Given the description of an element on the screen output the (x, y) to click on. 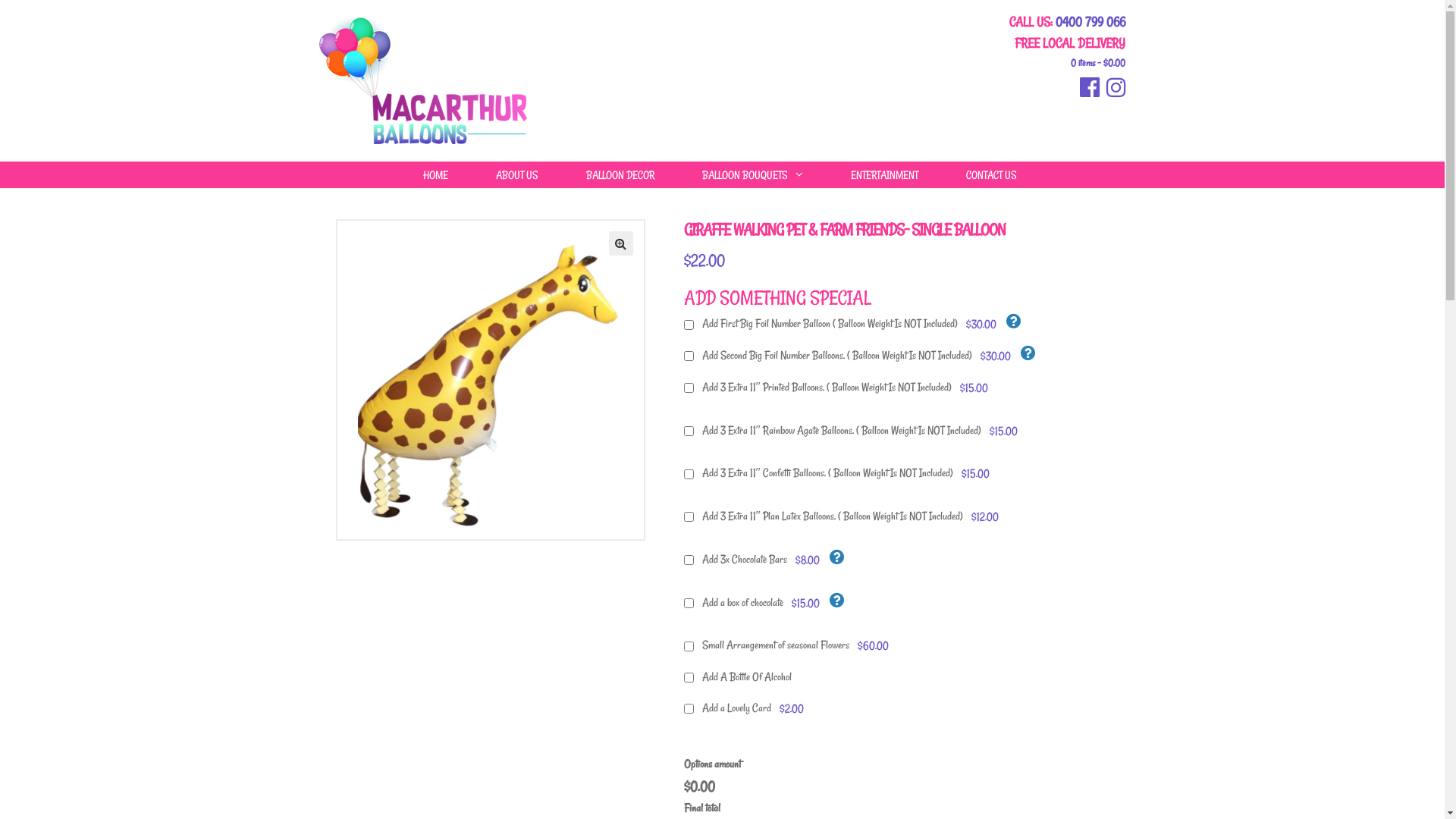
CONTACT US Element type: text (991, 174)
0 items - $0.00 Element type: text (1067, 62)
HOME Element type: text (435, 174)
BALLOON BOUQUETS Element type: text (752, 174)
ABOUT US Element type: text (517, 174)
giraffe-walking-pet Element type: hover (489, 379)
ENTERTAINMENT Element type: text (884, 174)
CALL US: 0400 799 066 Element type: text (1067, 21)
BALLOON DECOR Element type: text (619, 174)
